Given the description of an element on the screen output the (x, y) to click on. 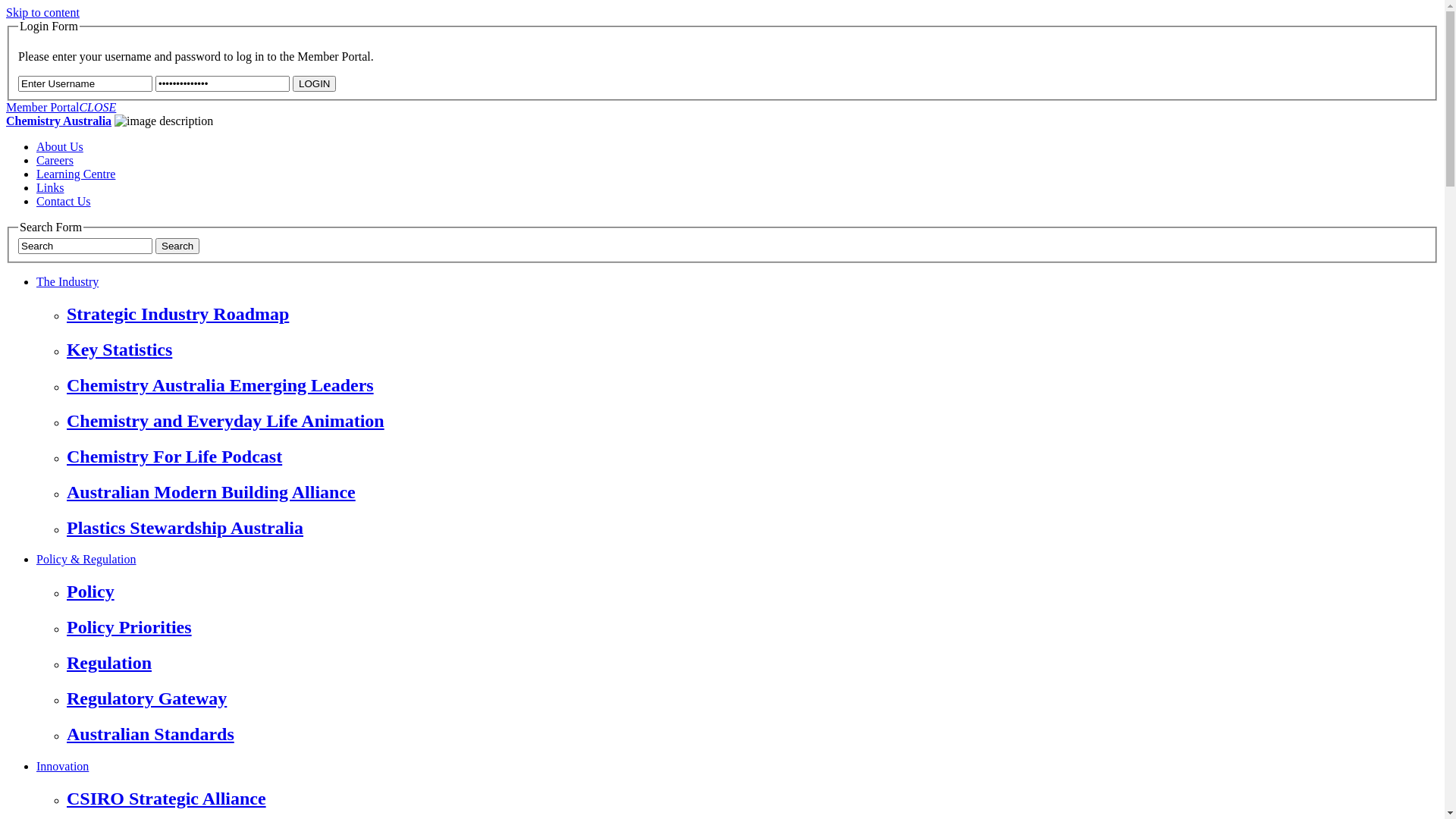
Links Element type: text (49, 187)
Chemistry For Life Podcast Element type: text (752, 456)
Careers Element type: text (54, 159)
Search Element type: text (177, 246)
Chemistry and Everyday Life Animation Element type: text (752, 421)
Enter Username Element type: hover (85, 83)
Plastics Stewardship Australia Element type: text (752, 527)
Search field Element type: hover (85, 246)
Innovation Element type: text (62, 765)
Regulatory Gateway Element type: text (752, 698)
Regulation Element type: text (752, 662)
Policy Priorities Element type: text (752, 627)
Chemistry Australia Emerging Leaders Element type: text (752, 385)
The Industry Element type: text (67, 281)
Policy & Regulation Element type: text (86, 558)
LOGIN Element type: text (313, 83)
Strategic Industry Roadmap Element type: text (752, 314)
Contact Us Element type: text (63, 200)
Australian Standards Element type: text (752, 734)
CSIRO Strategic Alliance Element type: text (752, 798)
Policy Element type: text (752, 591)
About Us Element type: text (59, 146)
Key Statistics Element type: text (752, 349)
Skip to content Element type: text (42, 12)
Learning Centre Element type: text (75, 173)
Enter Password Element type: hover (222, 83)
Member PortalCLOSE Element type: text (61, 106)
Chemistry Australia Element type: text (58, 120)
Australian Modern Building Alliance Element type: text (752, 492)
